Given the description of an element on the screen output the (x, y) to click on. 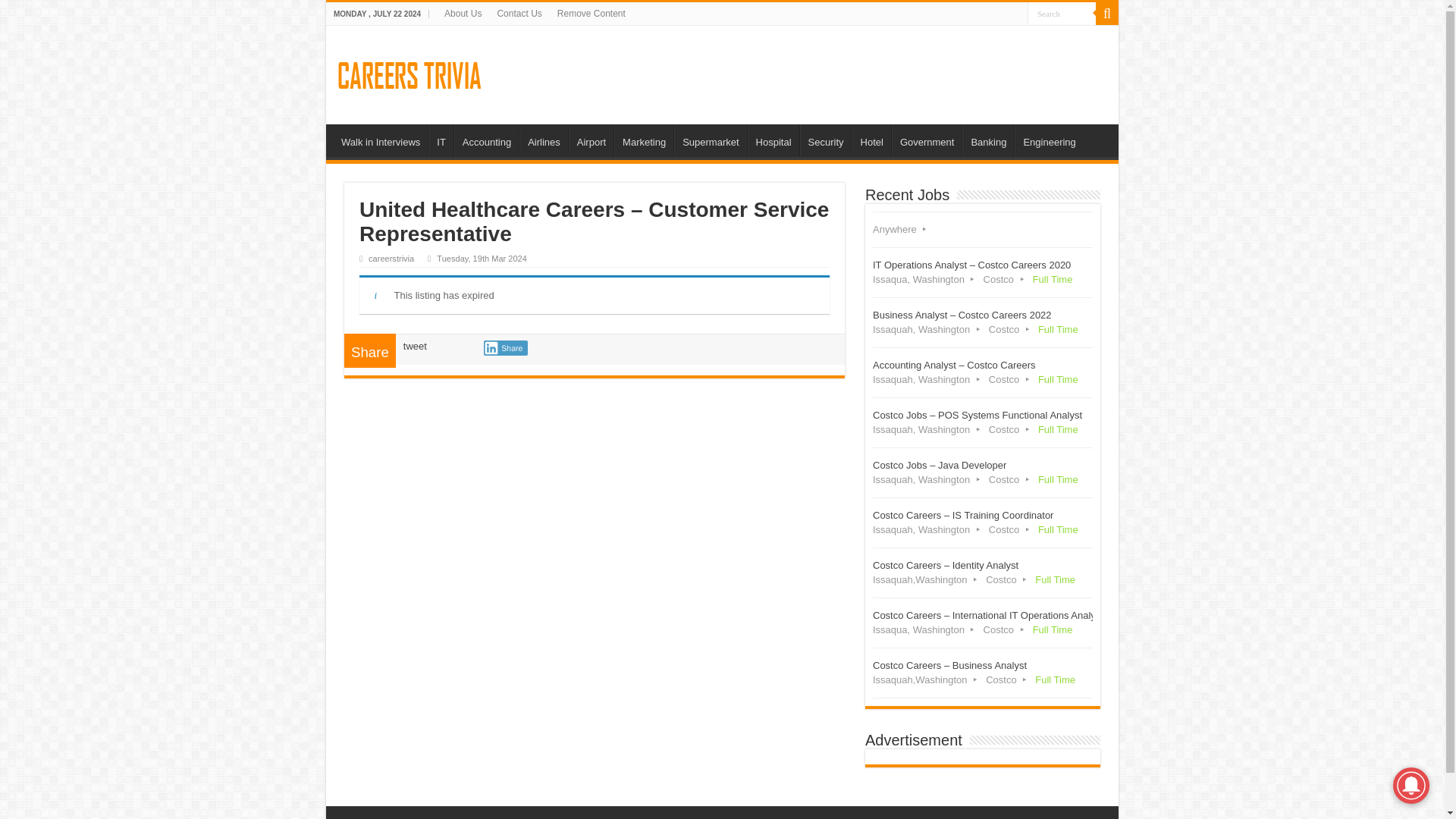
Engineering (1048, 140)
Airport (590, 140)
Walk in Interviews (380, 140)
Remove Content (591, 13)
Anywhere (982, 229)
tweet (414, 346)
careerstrivia (390, 257)
Hotel (871, 140)
Airlines (543, 140)
Search (1061, 13)
Accounting (486, 140)
About Us (462, 13)
Government (926, 140)
Share (505, 347)
Banking (987, 140)
